Given the description of an element on the screen output the (x, y) to click on. 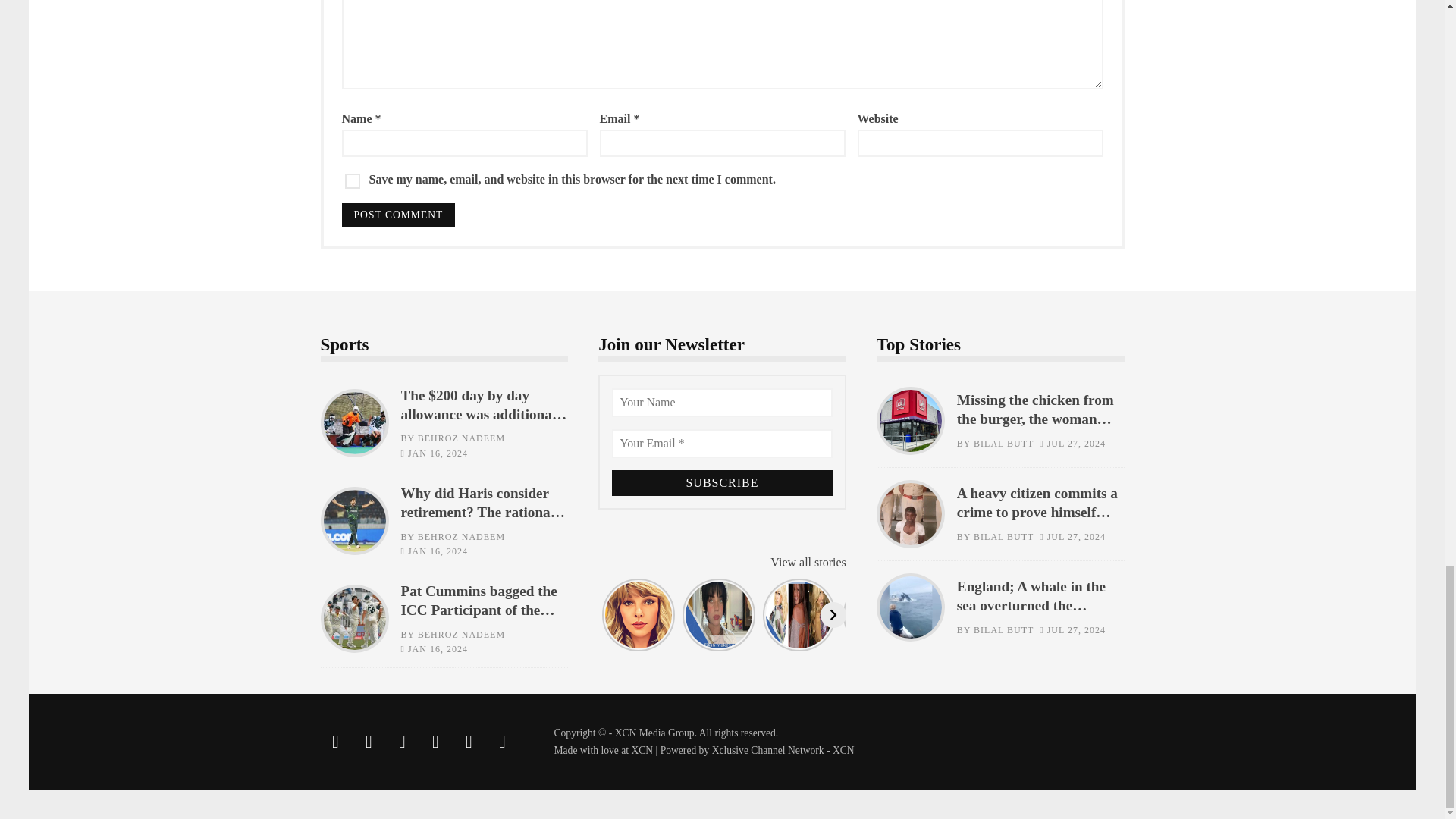
Subscribe (721, 483)
Post Comment (397, 215)
yes (351, 181)
